Given the description of an element on the screen output the (x, y) to click on. 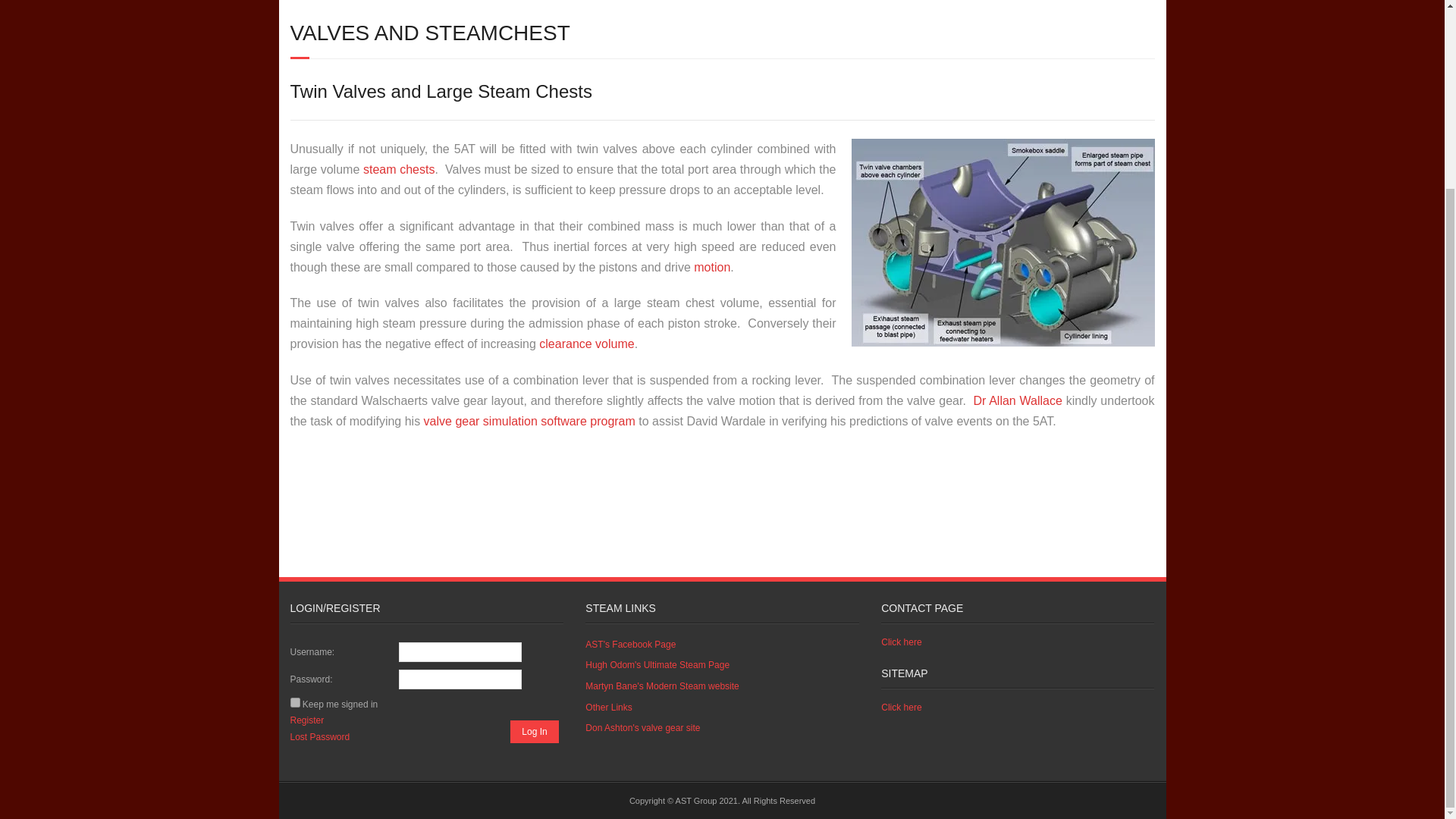
forever (294, 702)
Register (306, 720)
Steam Locomotive Valve Gears (642, 728)
Lost Password (319, 737)
